Given the description of an element on the screen output the (x, y) to click on. 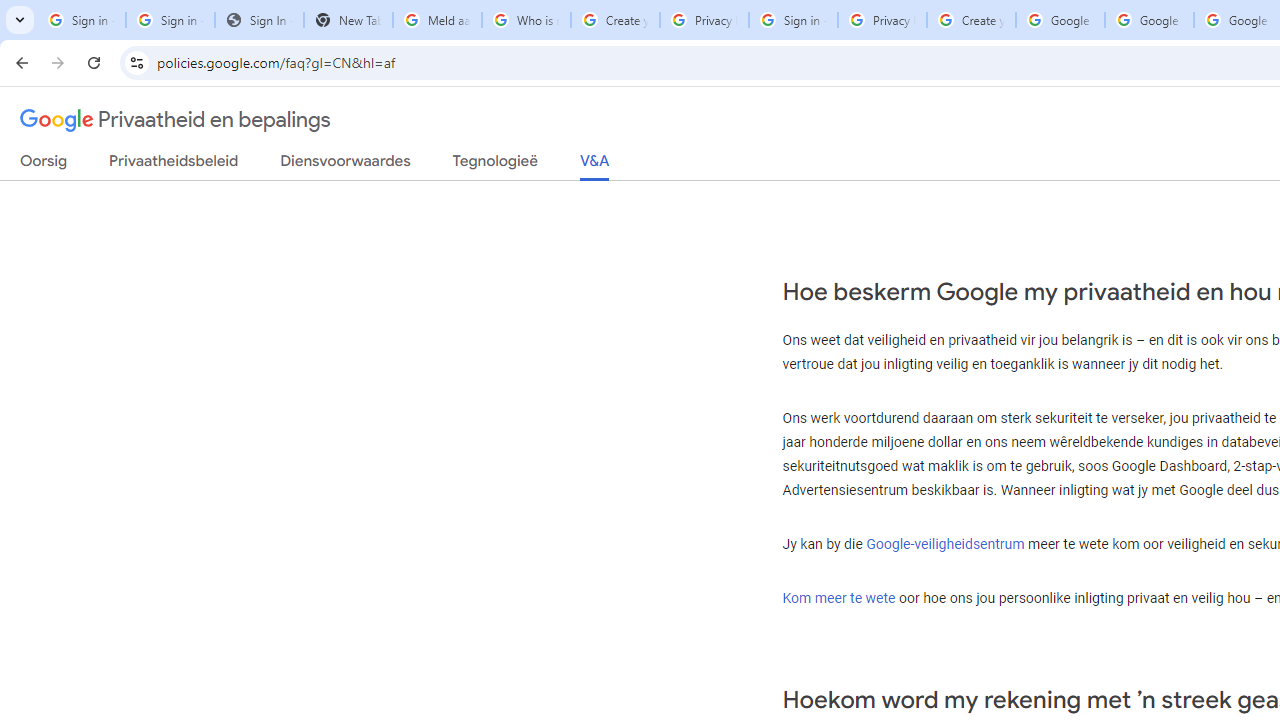
New Tab (347, 20)
Oorsig (43, 165)
Sign in - Google Accounts (81, 20)
Create your Google Account (971, 20)
Create your Google Account (615, 20)
Sign in - Google Accounts (793, 20)
Kom meer te wete (839, 597)
Sign in - Google Accounts (170, 20)
